Given the description of an element on the screen output the (x, y) to click on. 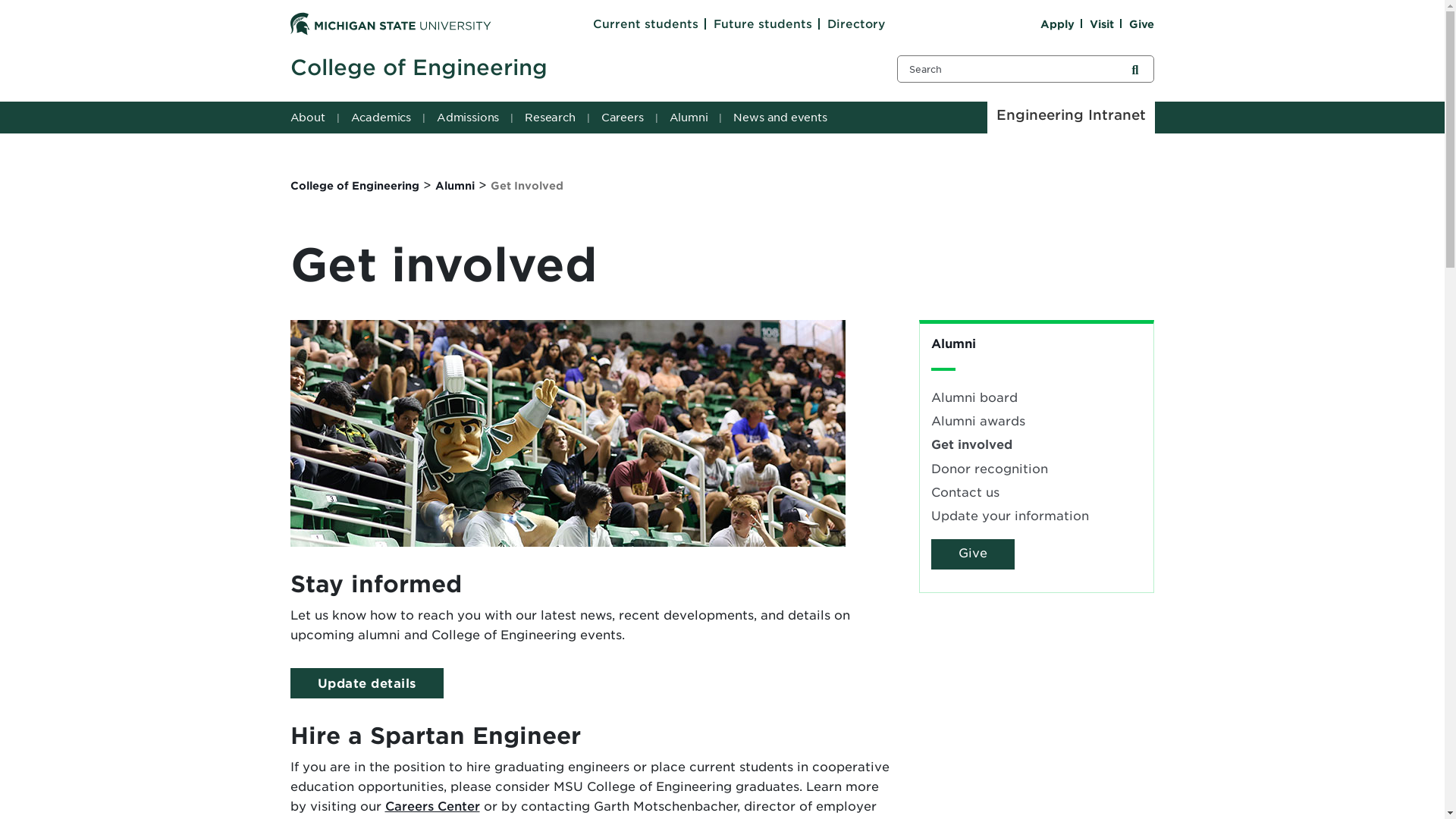
Michigan State University (389, 23)
Visit (1101, 24)
College of Engineering (574, 68)
Directory (856, 24)
Apply (1057, 24)
About (310, 117)
Current students (645, 24)
Michigan State University (389, 22)
Academics (383, 117)
Future students (762, 24)
Give (1141, 24)
